Given the description of an element on the screen output the (x, y) to click on. 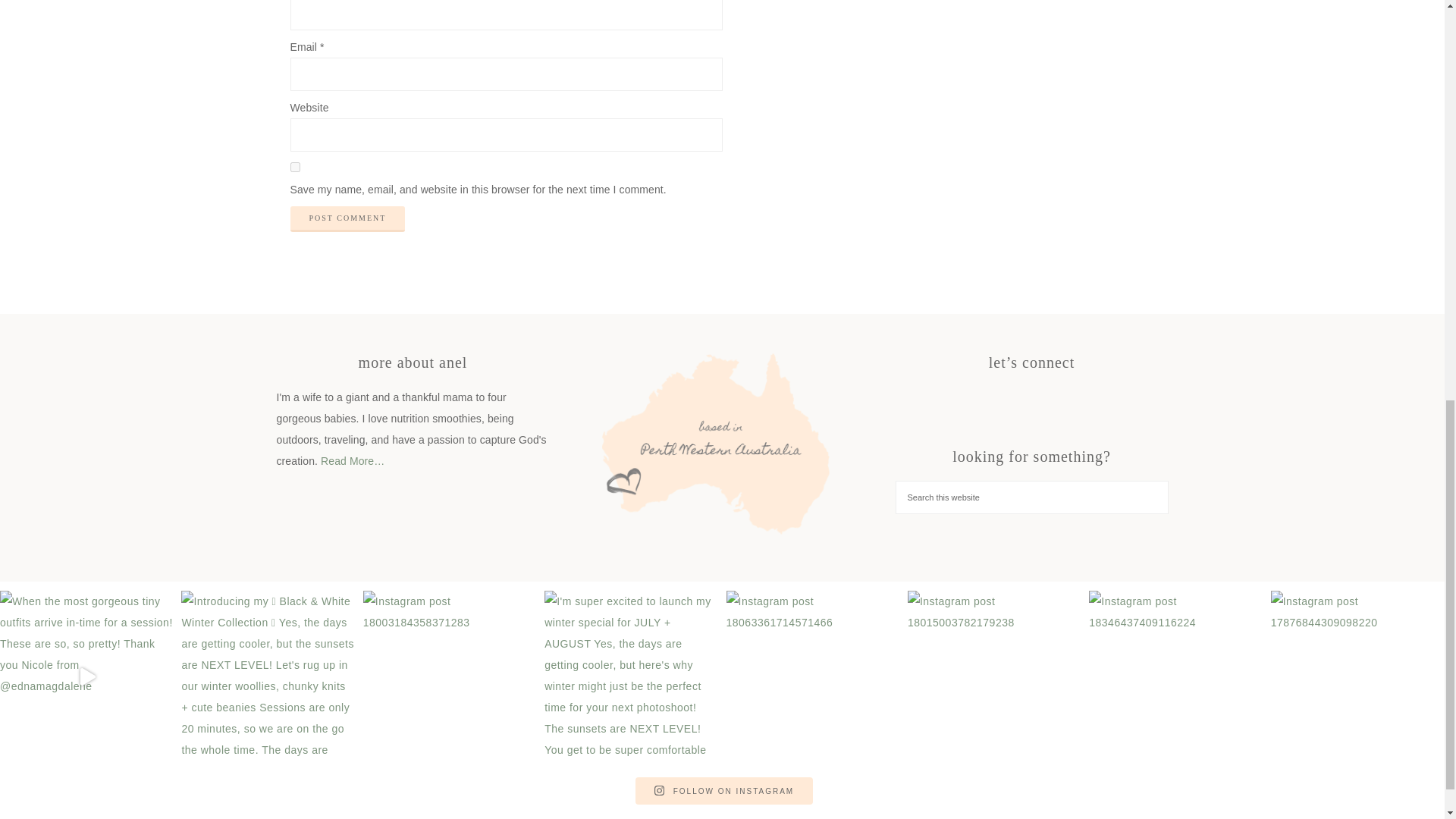
FOLLOW ON INSTAGRAM (723, 790)
Post Comment (346, 218)
yes (294, 166)
Post Comment (346, 218)
